Given the description of an element on the screen output the (x, y) to click on. 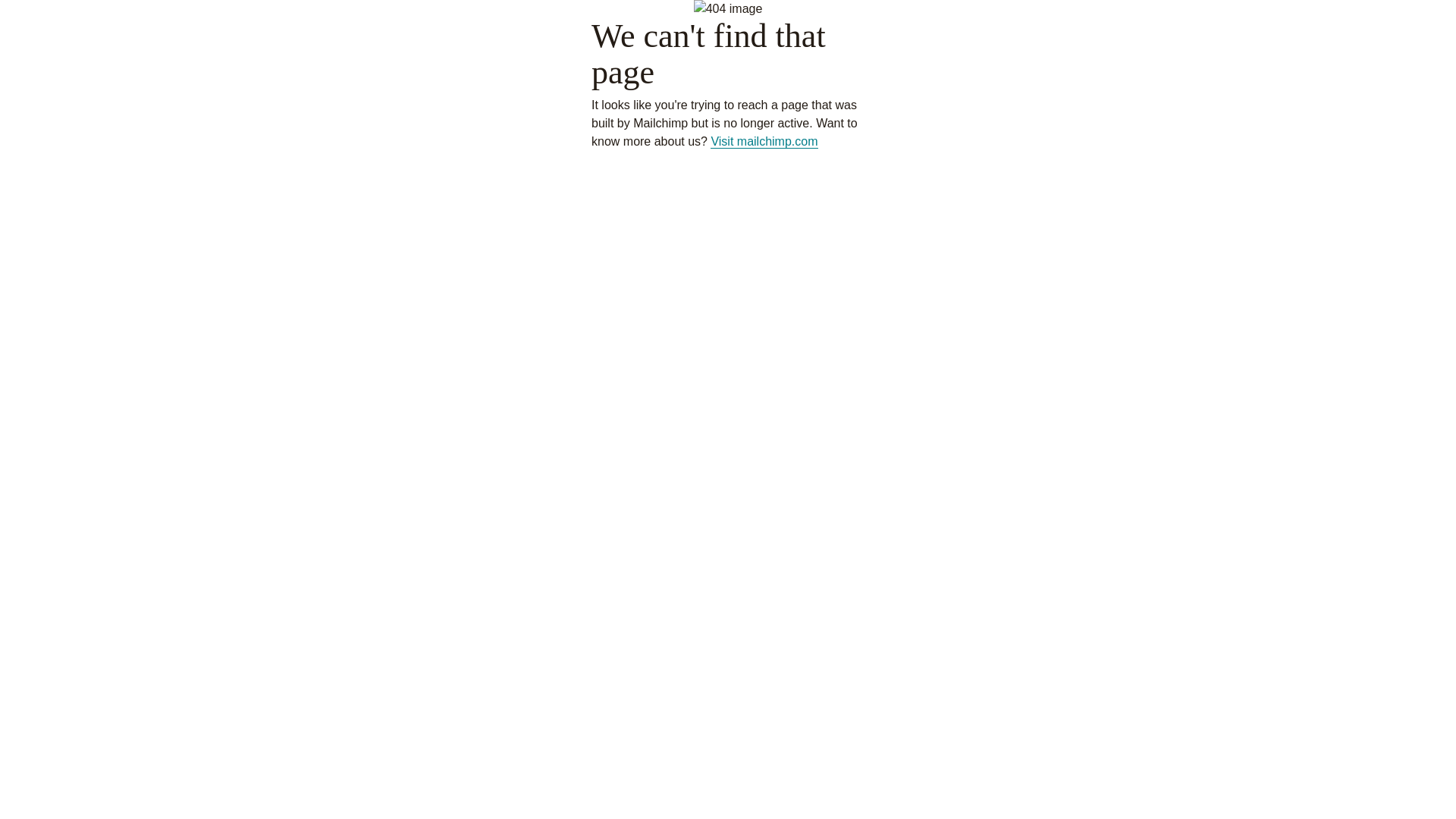
Visit mailchimp.com Element type: text (763, 141)
